Given the description of an element on the screen output the (x, y) to click on. 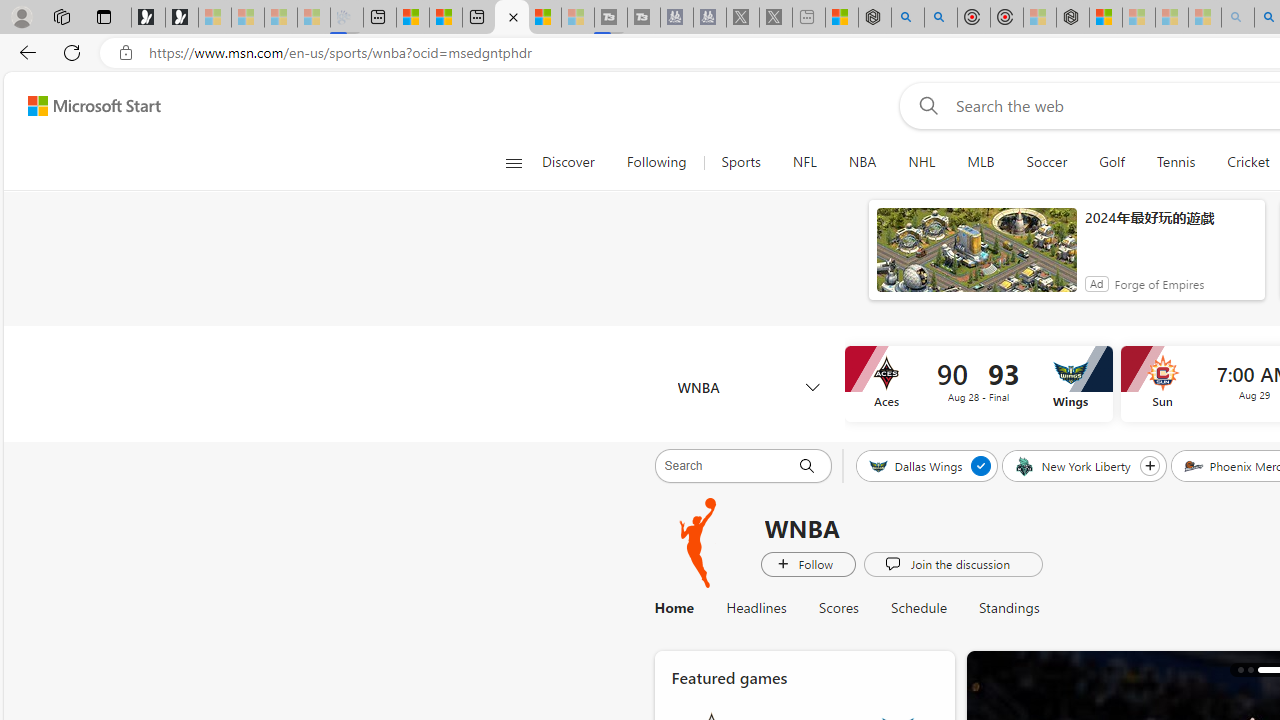
Soccer (1046, 162)
Class: button-glyph (513, 162)
Schedule (919, 607)
MLB (980, 162)
NFL (804, 162)
Web search (924, 105)
Cricket (1248, 162)
Dallas Wings (916, 465)
